Given the description of an element on the screen output the (x, y) to click on. 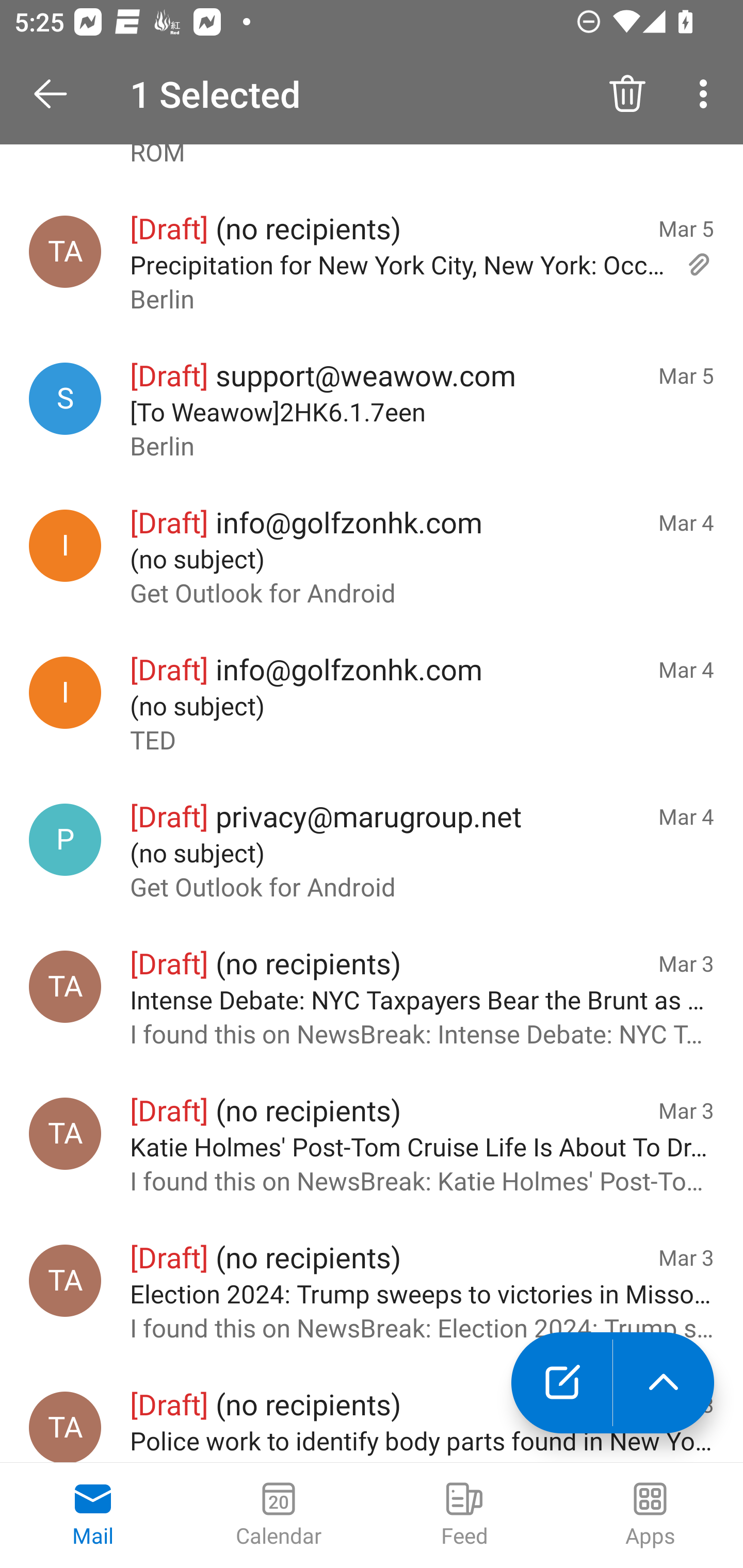
Delete (626, 93)
More options (706, 93)
Open Navigation Drawer (57, 94)
Test Appium, testappium002@outlook.com (64, 252)
support@weawow.com (64, 398)
info@golfzonhk.com (64, 545)
info@golfzonhk.com (64, 692)
privacy@marugroup.net (64, 839)
Test Appium, testappium002@outlook.com (64, 986)
Test Appium, testappium002@outlook.com (64, 1133)
Test Appium, testappium002@outlook.com (64, 1280)
New mail (561, 1382)
launch the extended action menu (663, 1382)
Test Appium, testappium002@outlook.com (64, 1427)
Calendar (278, 1515)
Feed (464, 1515)
Apps (650, 1515)
